Given the description of an element on the screen output the (x, y) to click on. 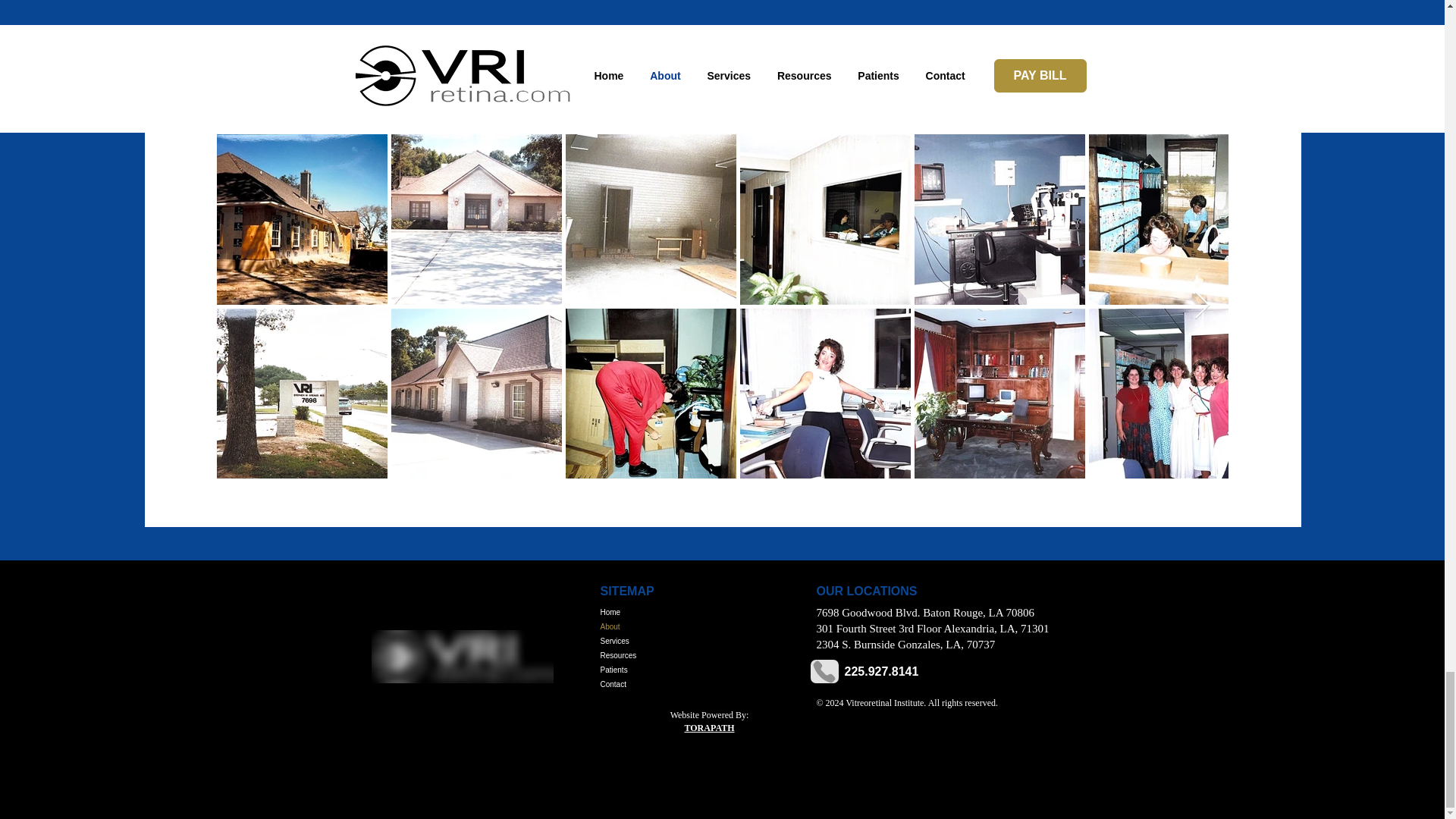
Home (653, 612)
Patients (653, 669)
Resources (653, 655)
Services (653, 640)
SITEMAP (626, 590)
TORAPATH (708, 727)
Contact (653, 684)
225.927.8141 (881, 671)
About (653, 626)
OUR LOCATIONS (866, 590)
